Given the description of an element on the screen output the (x, y) to click on. 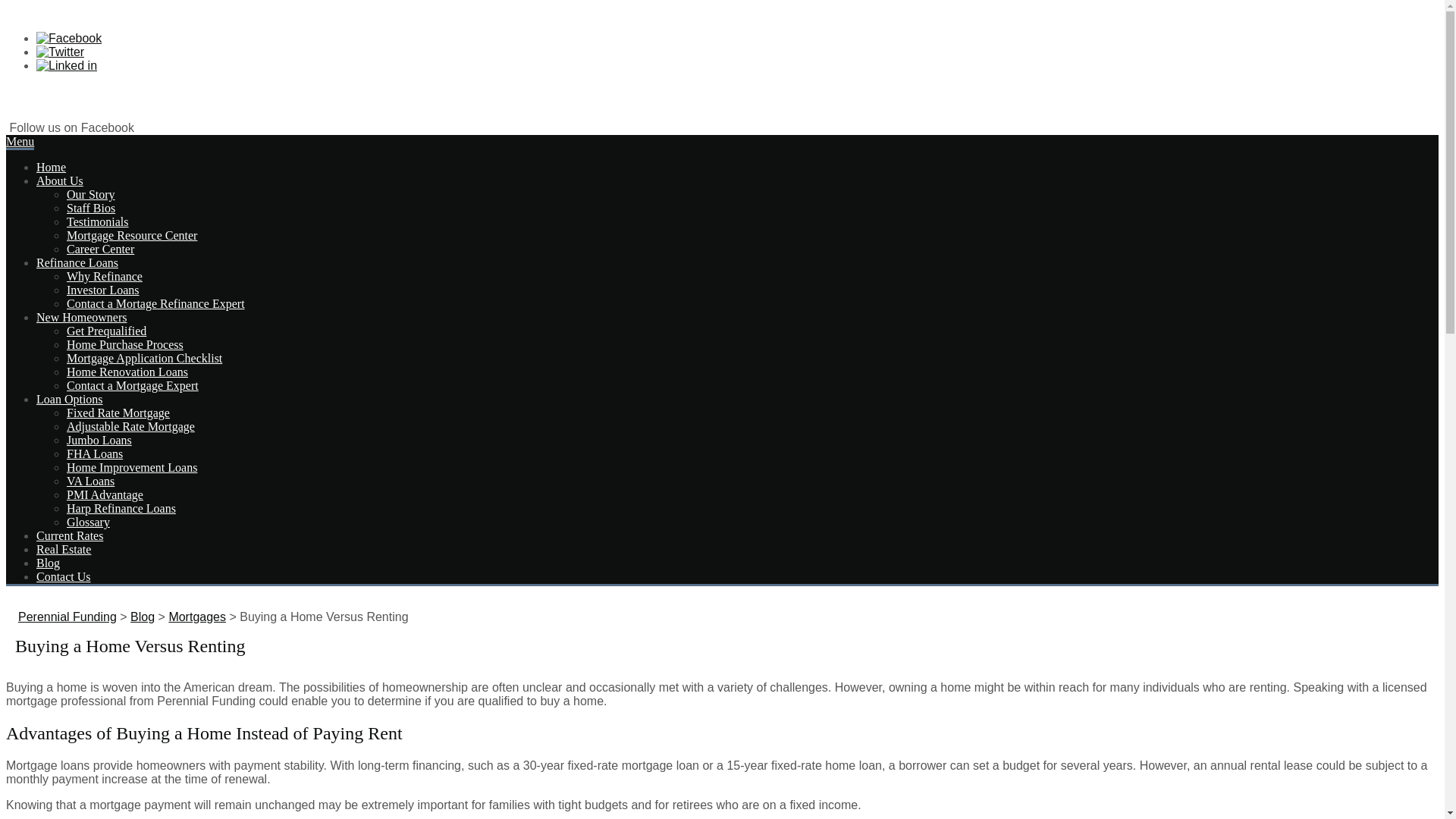
Harp Refinance Loans (121, 508)
VA Loans (90, 481)
Career Center (99, 248)
New Homeowners (82, 317)
Testimonials (97, 221)
Mortgage Resource Center (131, 235)
Loan Options (69, 399)
Blog (142, 616)
Go to Blog. (142, 616)
About Us (59, 180)
Glossary (88, 521)
Investor Loans (102, 289)
Our Story (90, 194)
Home Renovation Loans (126, 371)
Fixed Rate Mortgage (118, 412)
